Given the description of an element on the screen output the (x, y) to click on. 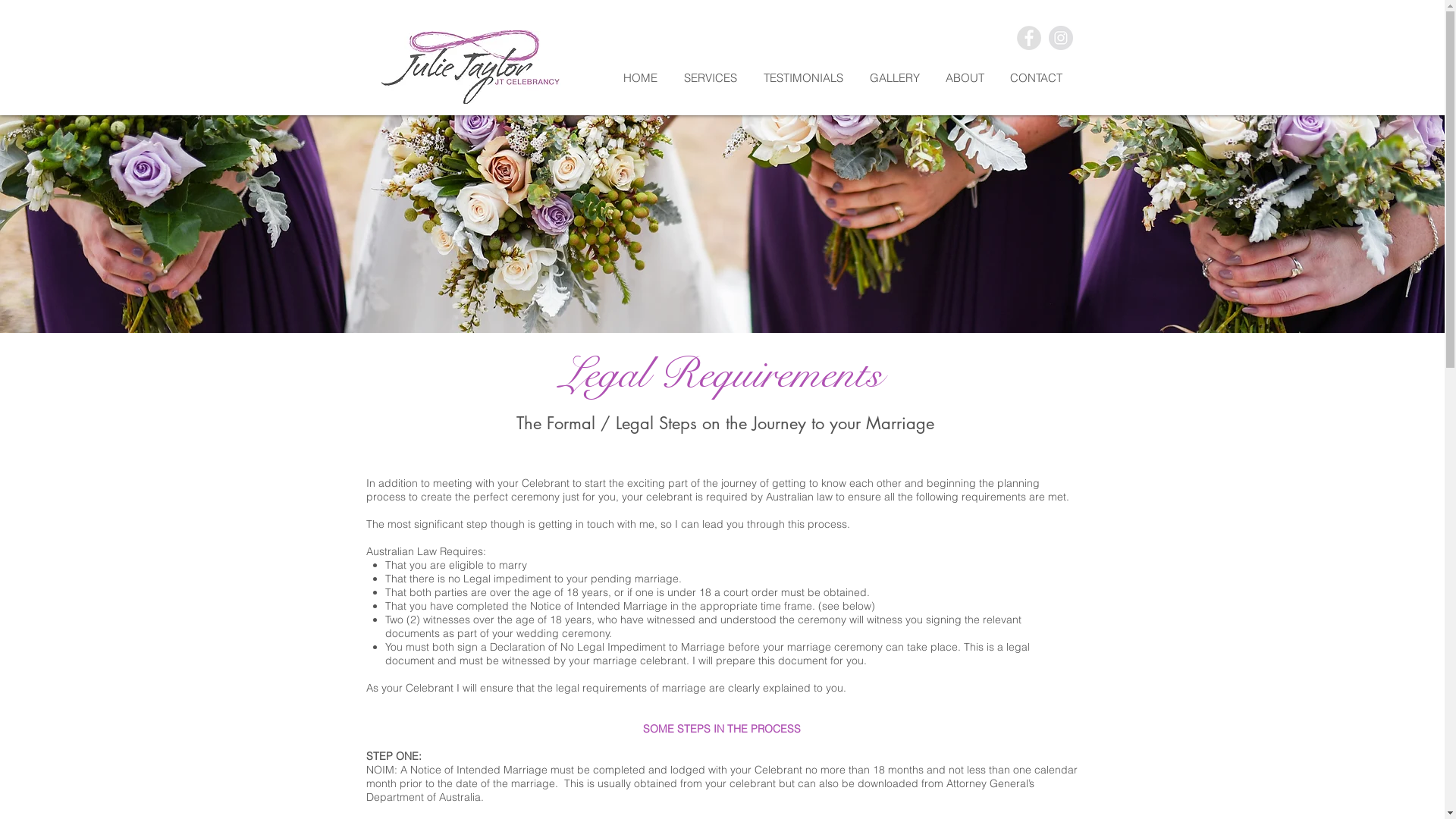
ABOUT Element type: text (969, 77)
GALLERY Element type: text (899, 77)
CONTACT Element type: text (1041, 77)
TESTIMONIALS Element type: text (808, 77)
HOME Element type: text (645, 77)
SERVICES Element type: text (716, 77)
